Given the description of an element on the screen output the (x, y) to click on. 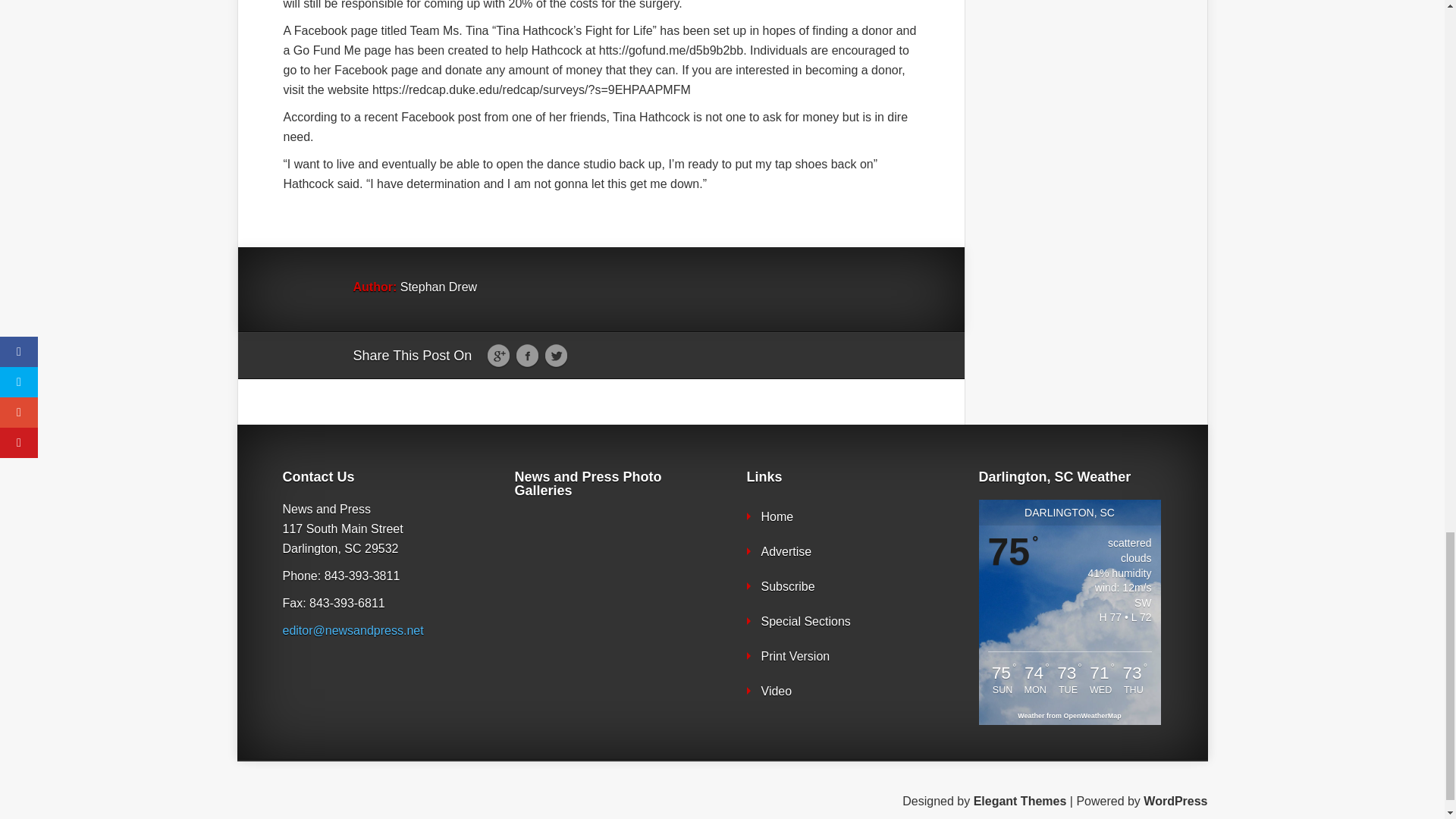
Premium WordPress Themes (1020, 800)
Google (498, 355)
Facebook (526, 355)
Twitter (555, 355)
